Given the description of an element on the screen output the (x, y) to click on. 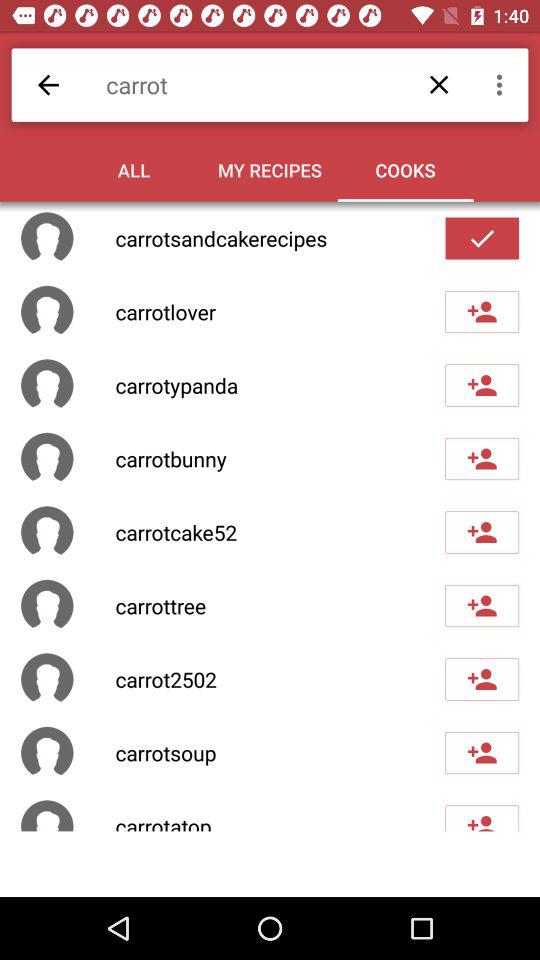
add person (482, 312)
